Given the description of an element on the screen output the (x, y) to click on. 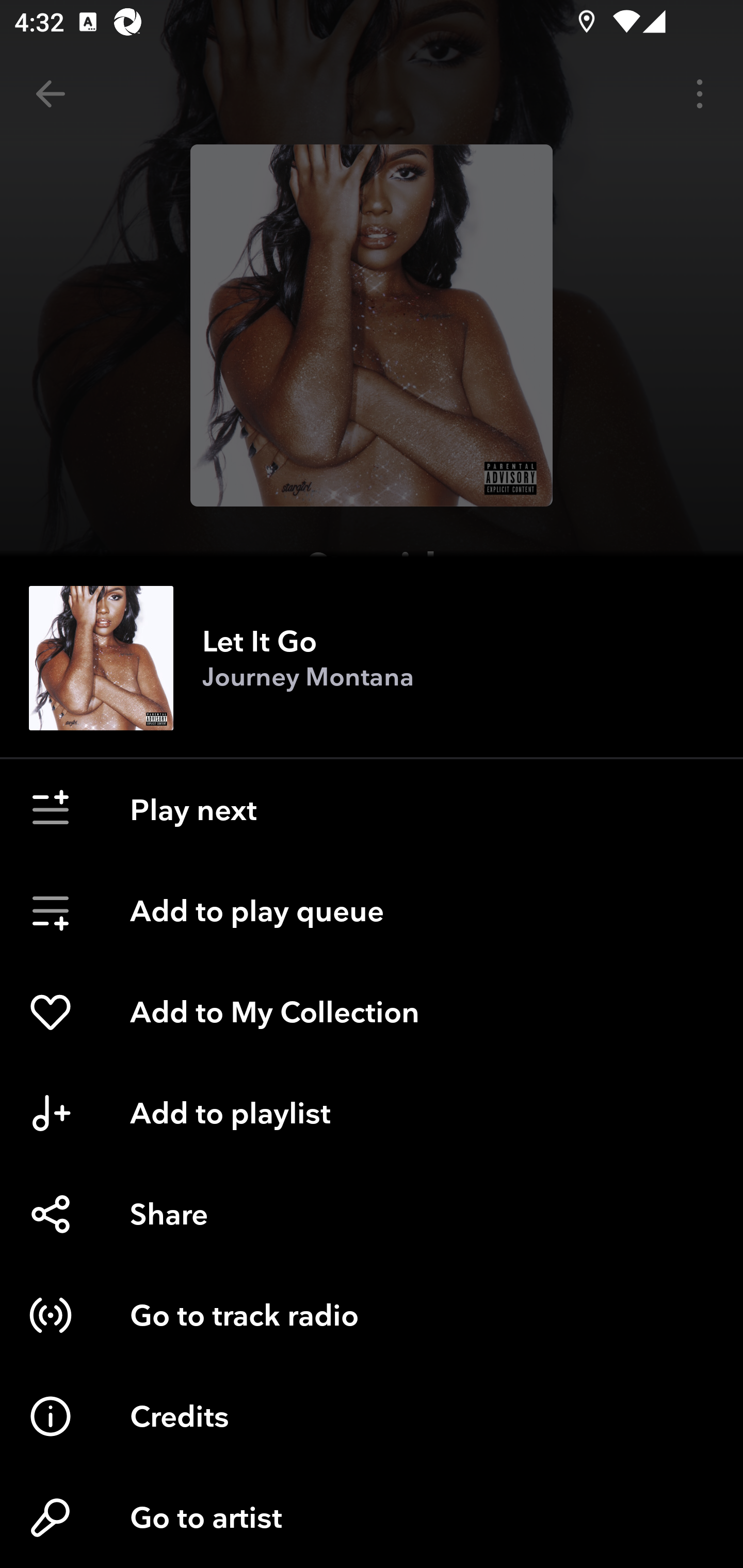
Play next (371, 809)
Add to play queue (371, 910)
Add to My Collection (371, 1012)
Add to playlist (371, 1113)
Share (371, 1214)
Go to track radio (371, 1315)
Credits (371, 1416)
Go to artist (371, 1517)
